Given the description of an element on the screen output the (x, y) to click on. 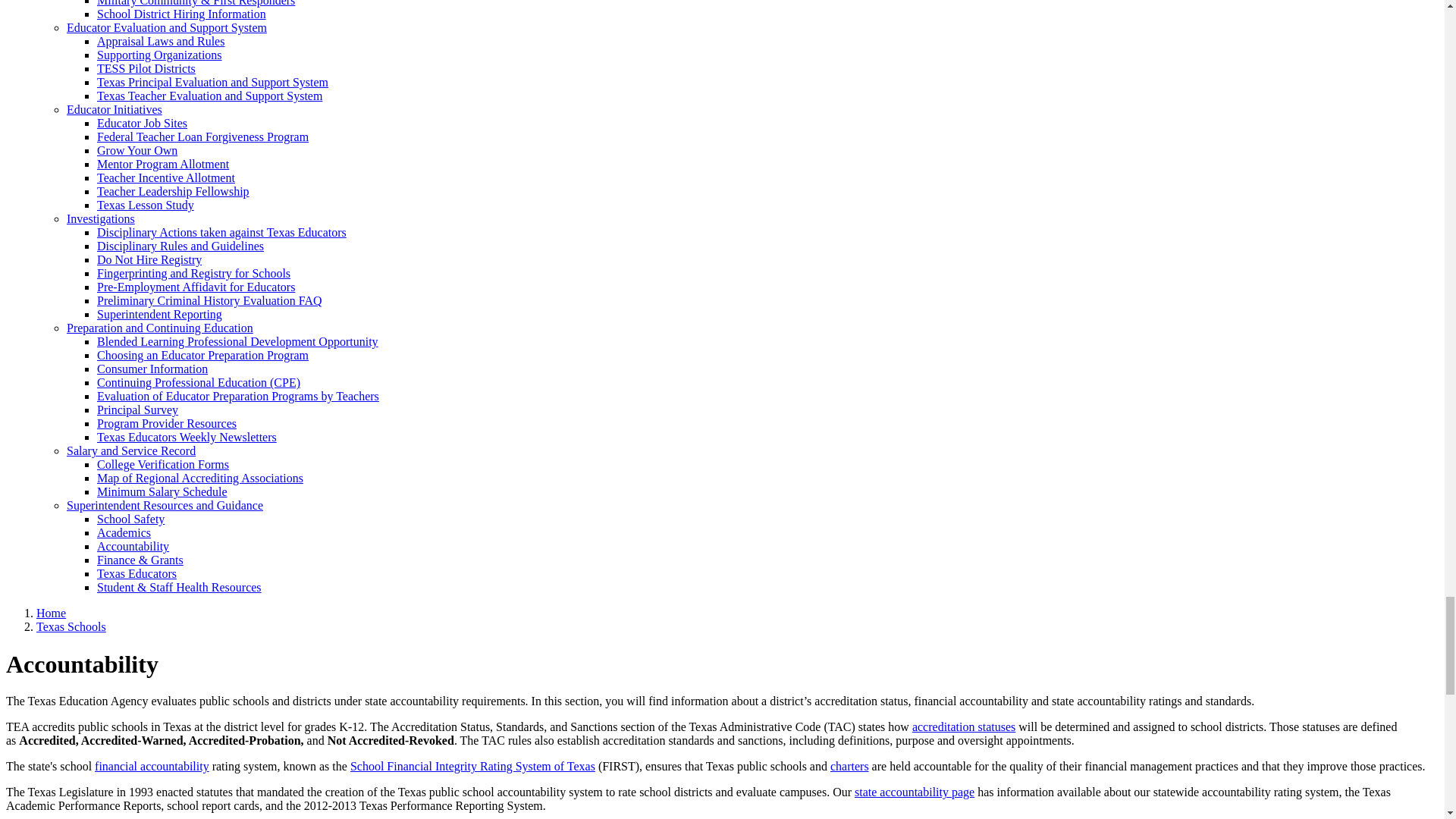
School Financial Integrity Rating System of Texas (472, 766)
financial accountability (151, 766)
state accountability page (914, 791)
accreditation statuses (963, 726)
charters (849, 766)
